Given the description of an element on the screen output the (x, y) to click on. 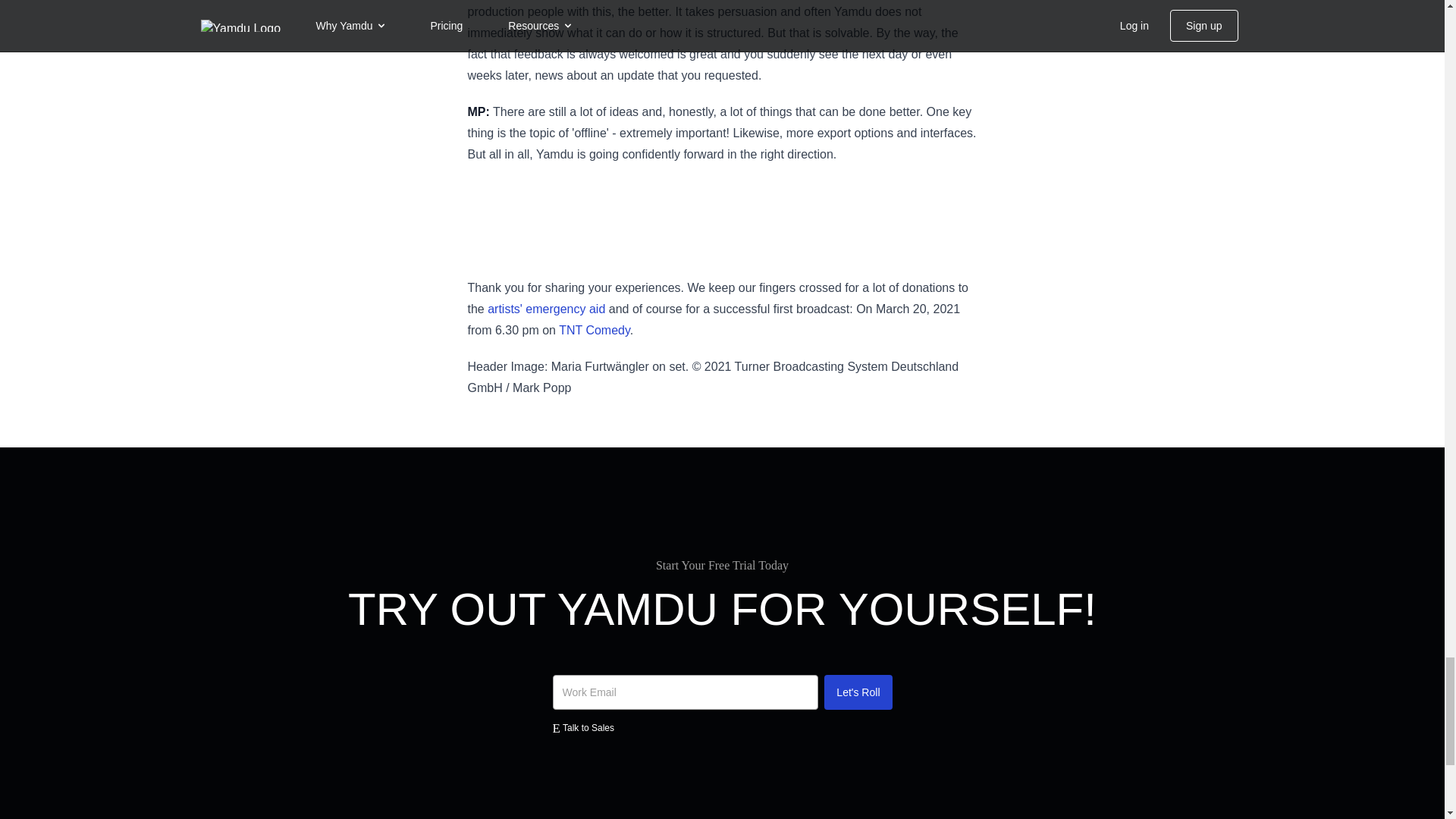
Let's Roll (857, 692)
artists' emergency aid (546, 308)
Talk to Sales (721, 727)
TNT Comedy (594, 329)
